Given the description of an element on the screen output the (x, y) to click on. 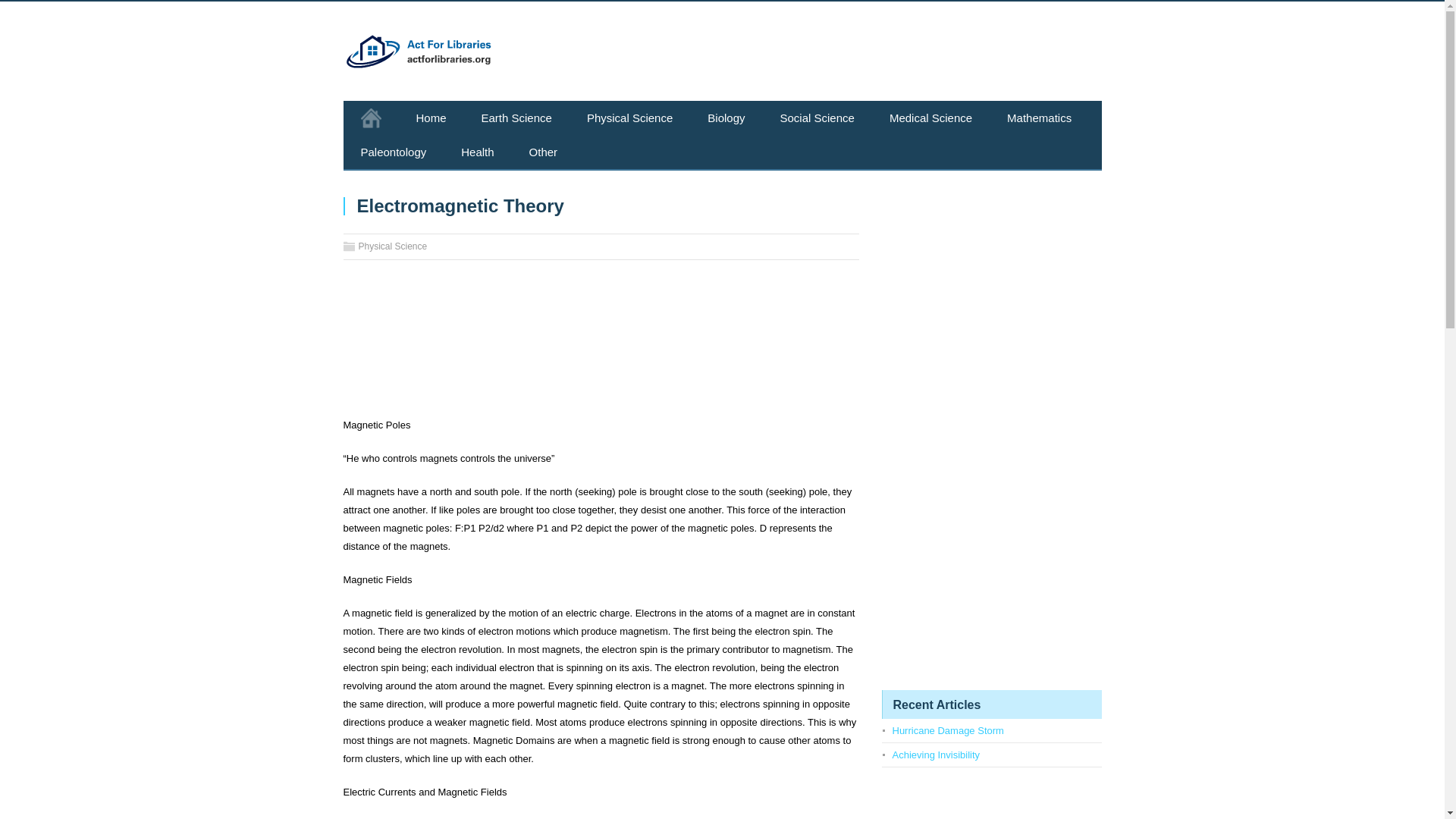
Paleontology (393, 151)
Physical Science (392, 245)
Health (477, 151)
Advertisement (600, 344)
Mathematics (1039, 117)
Other (543, 151)
Achieving Invisibility (935, 754)
Earth Science (516, 117)
Hurricane Damage Storm (947, 730)
Social Science (817, 117)
